Given the description of an element on the screen output the (x, y) to click on. 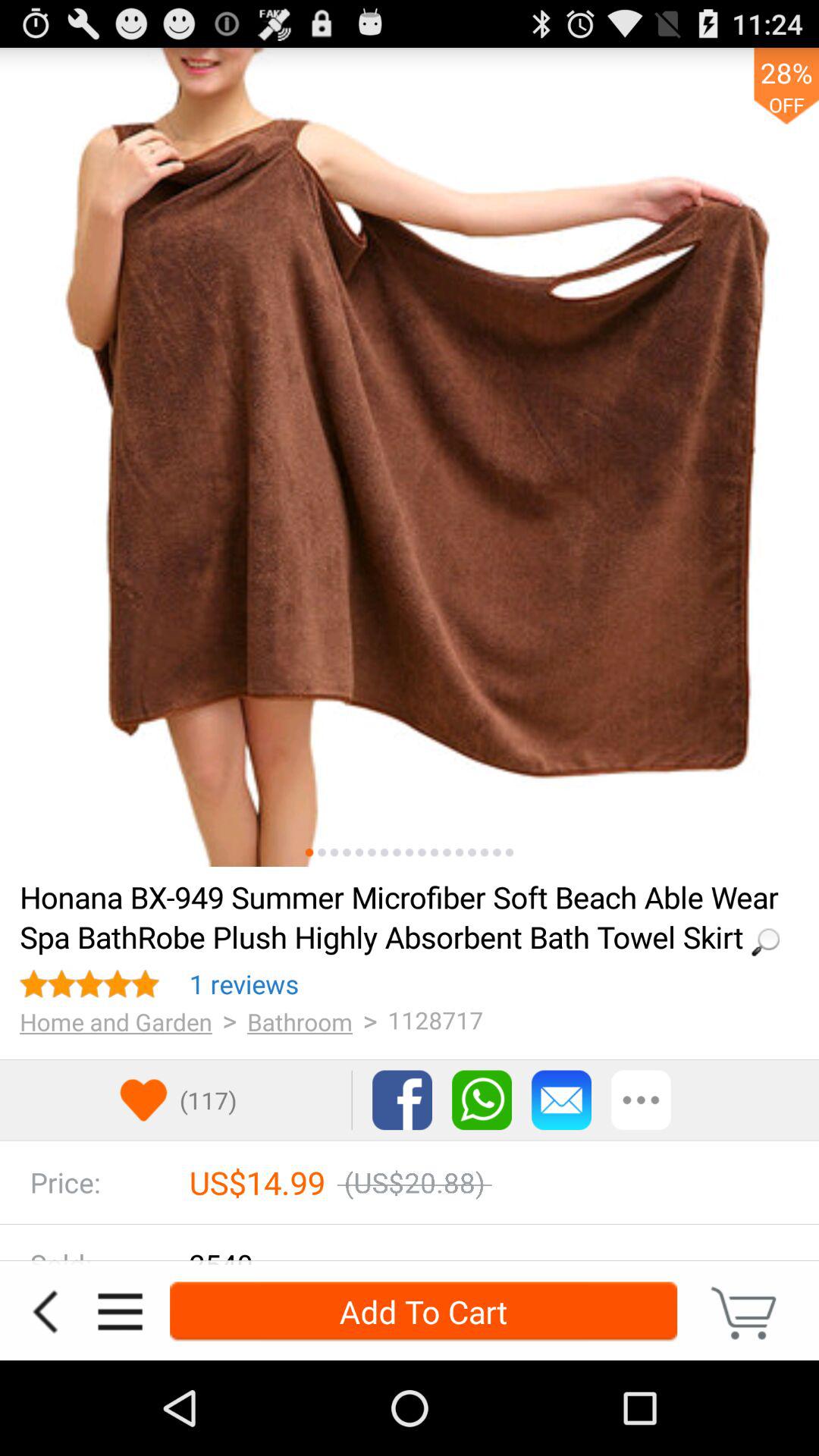
toggle next picture (384, 852)
